Given the description of an element on the screen output the (x, y) to click on. 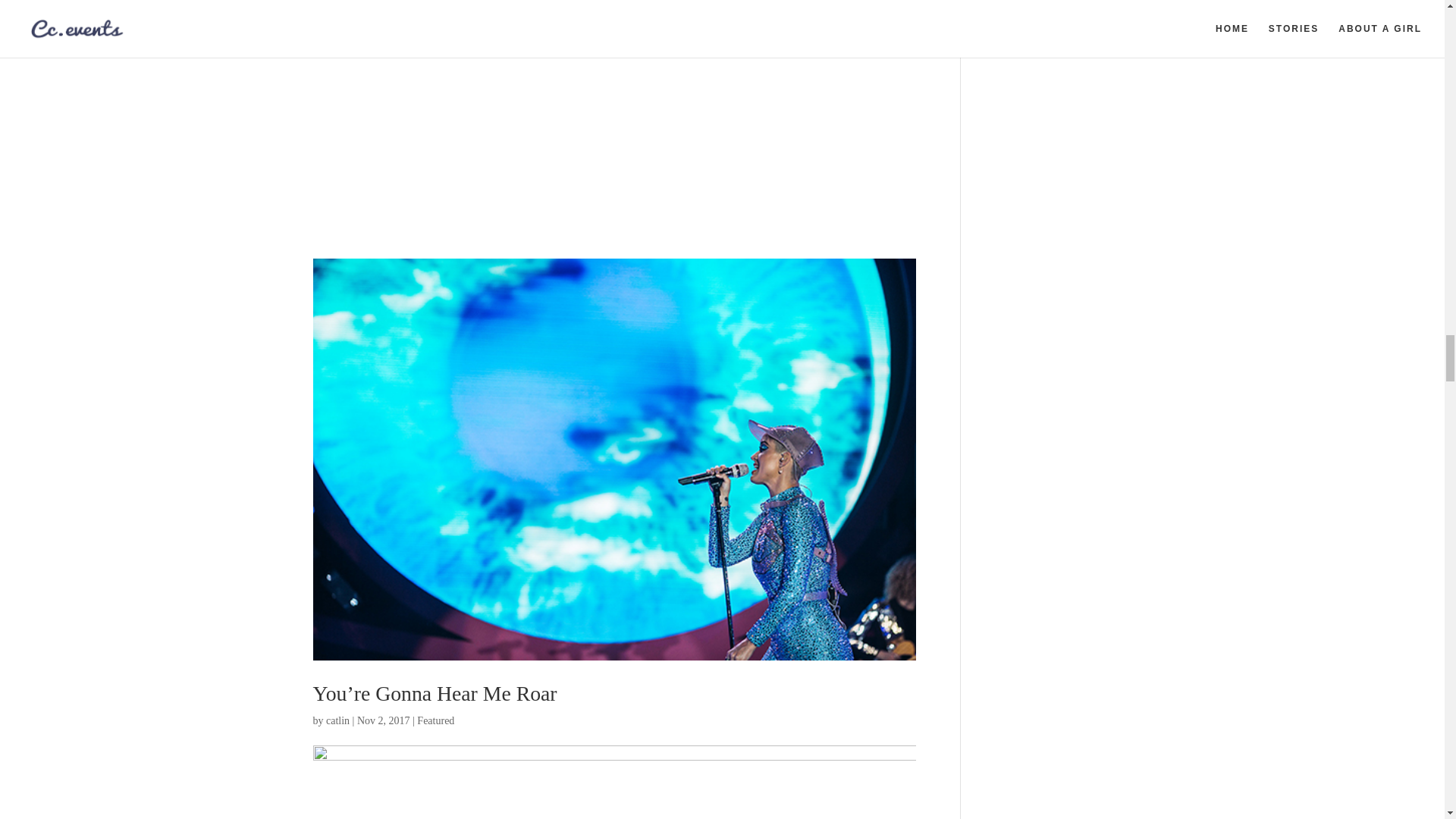
Featured (435, 720)
catlin (337, 720)
Posts by catlin (337, 720)
